Given the description of an element on the screen output the (x, y) to click on. 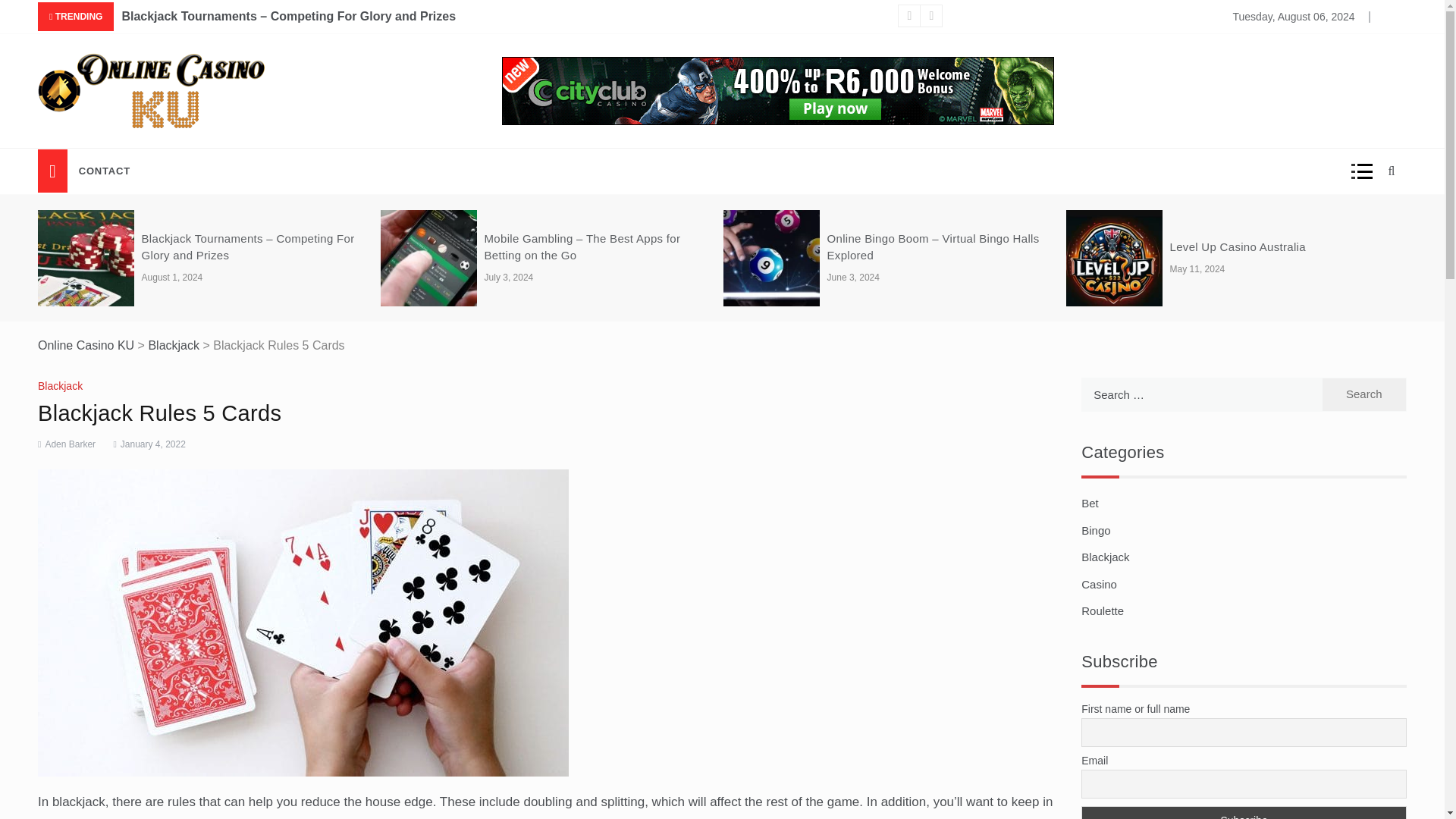
Go to Online Casino KU. (85, 345)
Go to the Blackjack Category archives. (173, 345)
Online Casino KU (126, 140)
CONTACT (104, 171)
Search (1364, 394)
Subscribe (1243, 812)
How to Win at Blackjack (1019, 16)
Search (1364, 394)
